Given the description of an element on the screen output the (x, y) to click on. 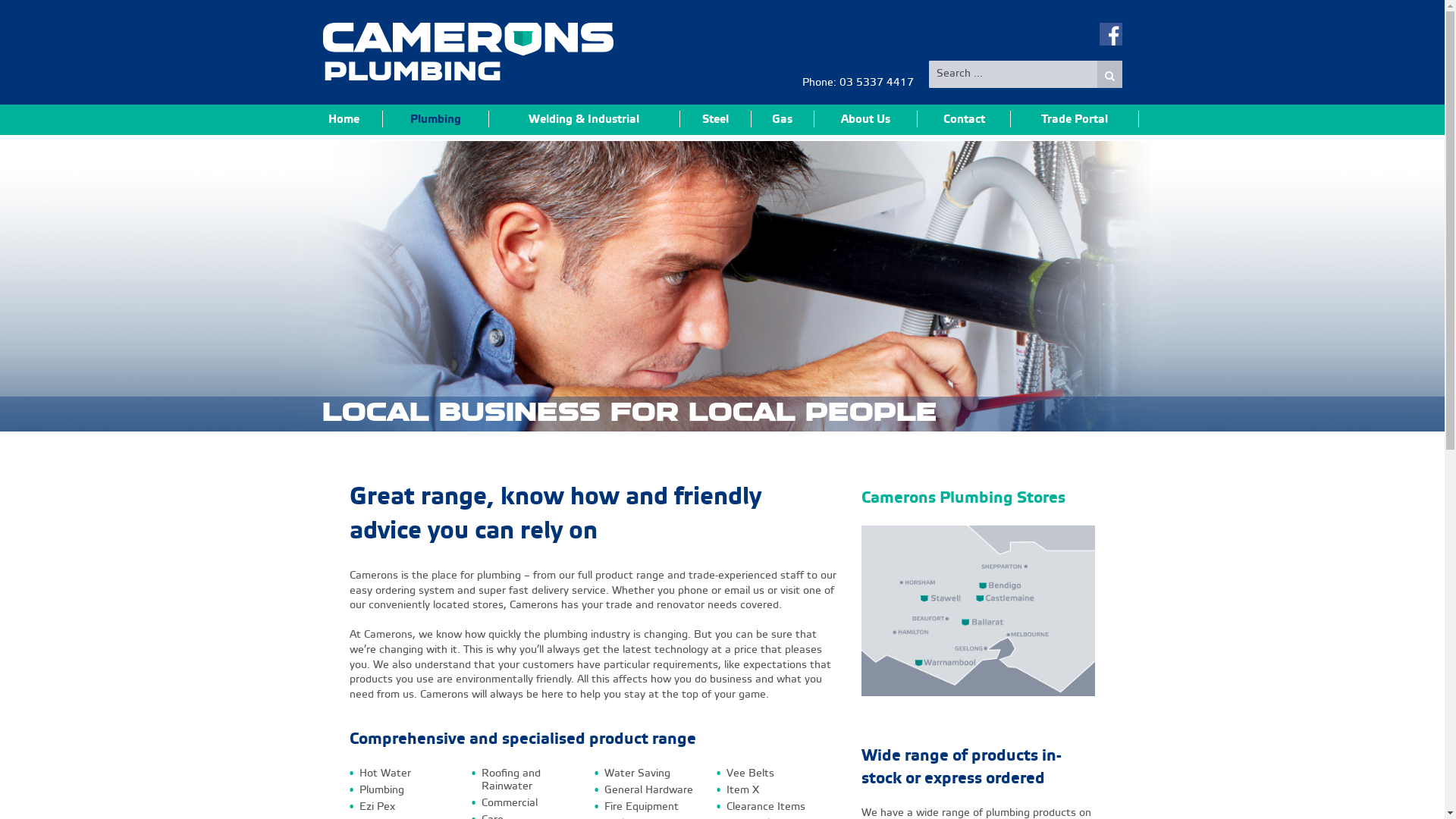
Steel Element type: text (715, 118)
About Us Element type: text (866, 118)
Home Element type: text (343, 118)
Gas Element type: text (782, 118)
Welding & Industrial Element type: text (584, 118)
Contact Element type: text (963, 118)
Plumbing Element type: text (435, 118)
